Given the description of an element on the screen output the (x, y) to click on. 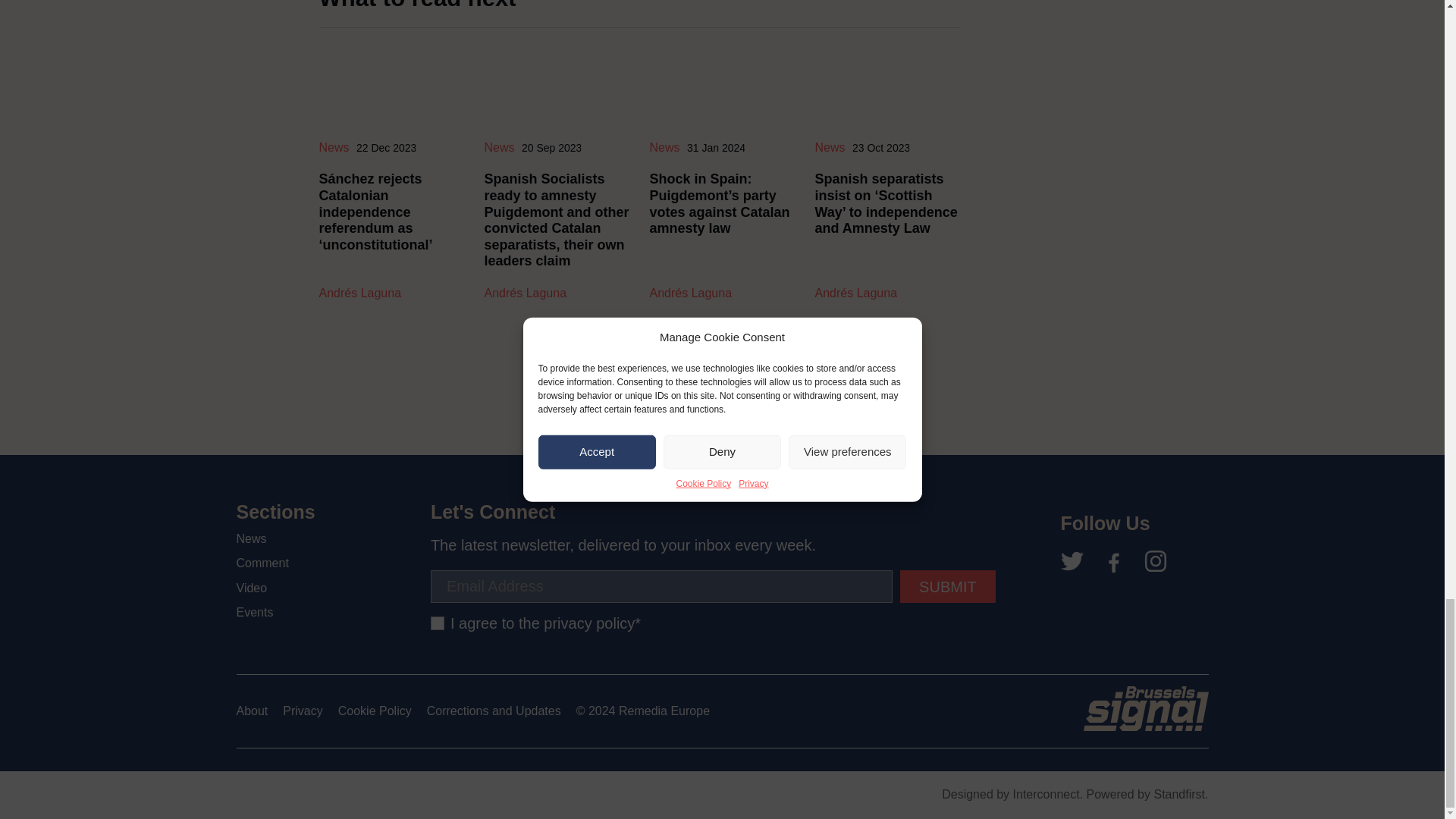
I agree to the privacy policy (437, 622)
